Given the description of an element on the screen output the (x, y) to click on. 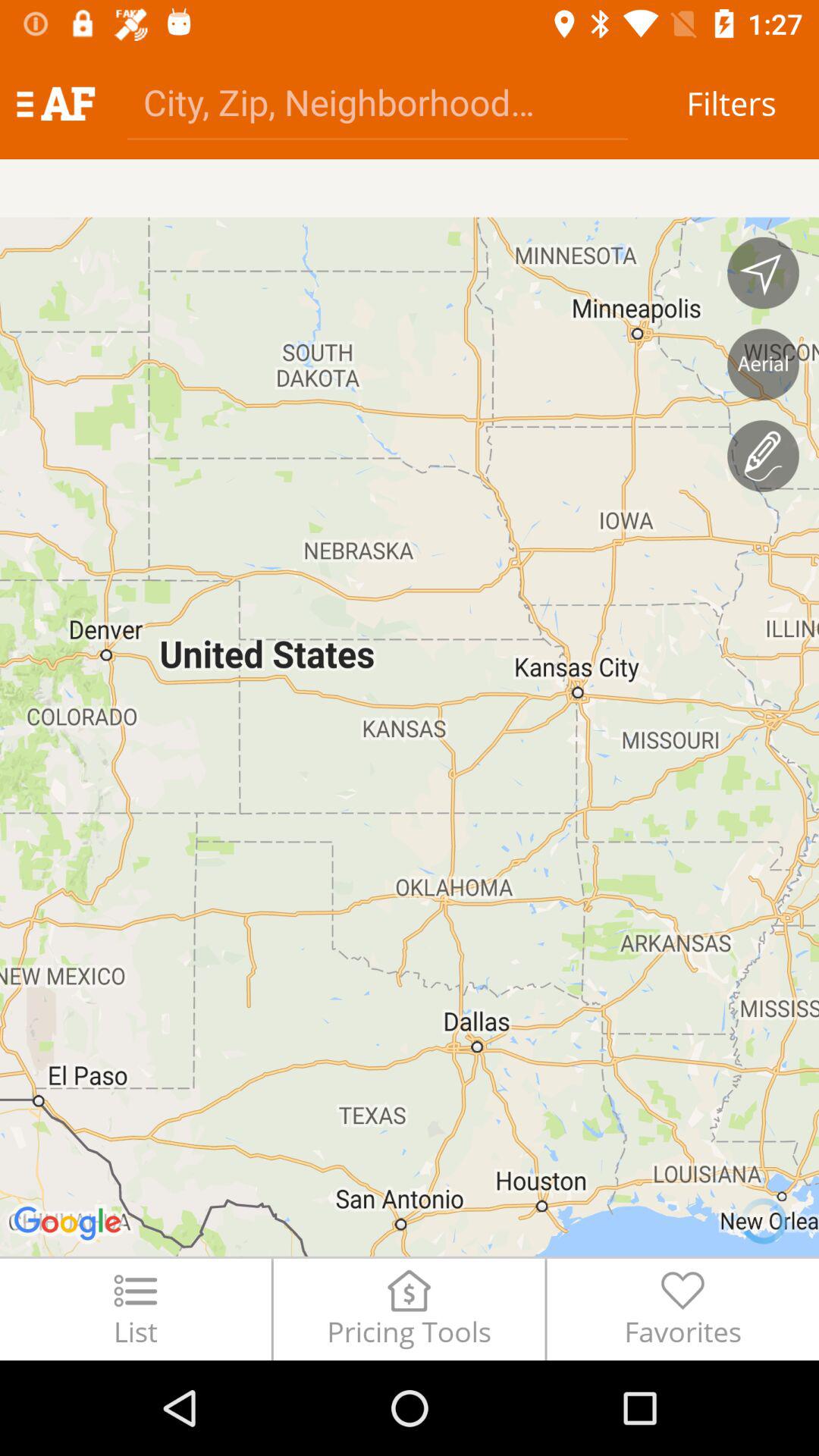
click the item next to pricing tools icon (135, 1309)
